Given the description of an element on the screen output the (x, y) to click on. 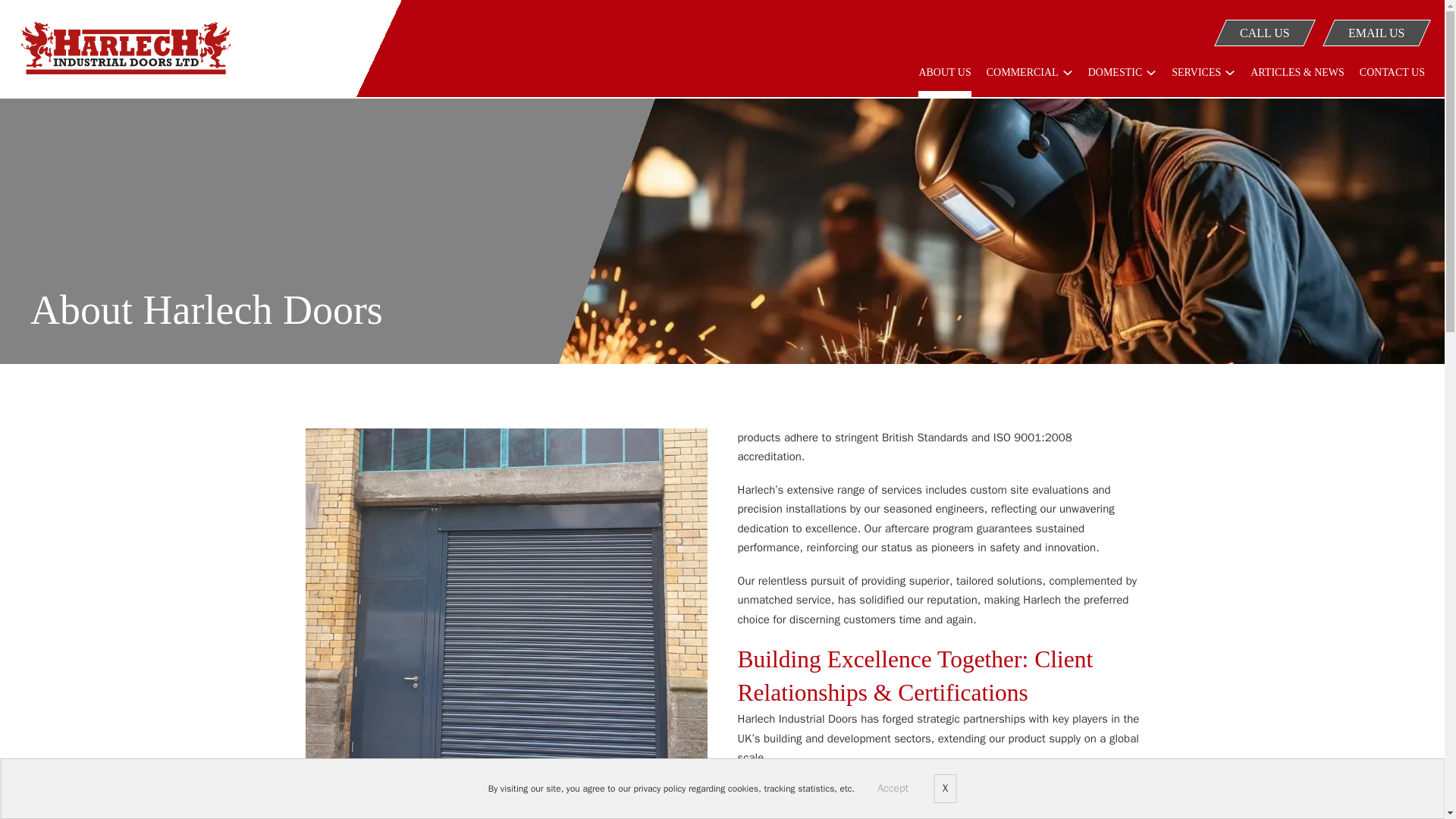
DOMESTIC (1114, 78)
COMMERCIAL (1022, 78)
CONTACT US (1392, 81)
EMAIL US (1371, 32)
SERVICES (1196, 78)
CALL US (1258, 32)
ABOUT US (944, 81)
